Given the description of an element on the screen output the (x, y) to click on. 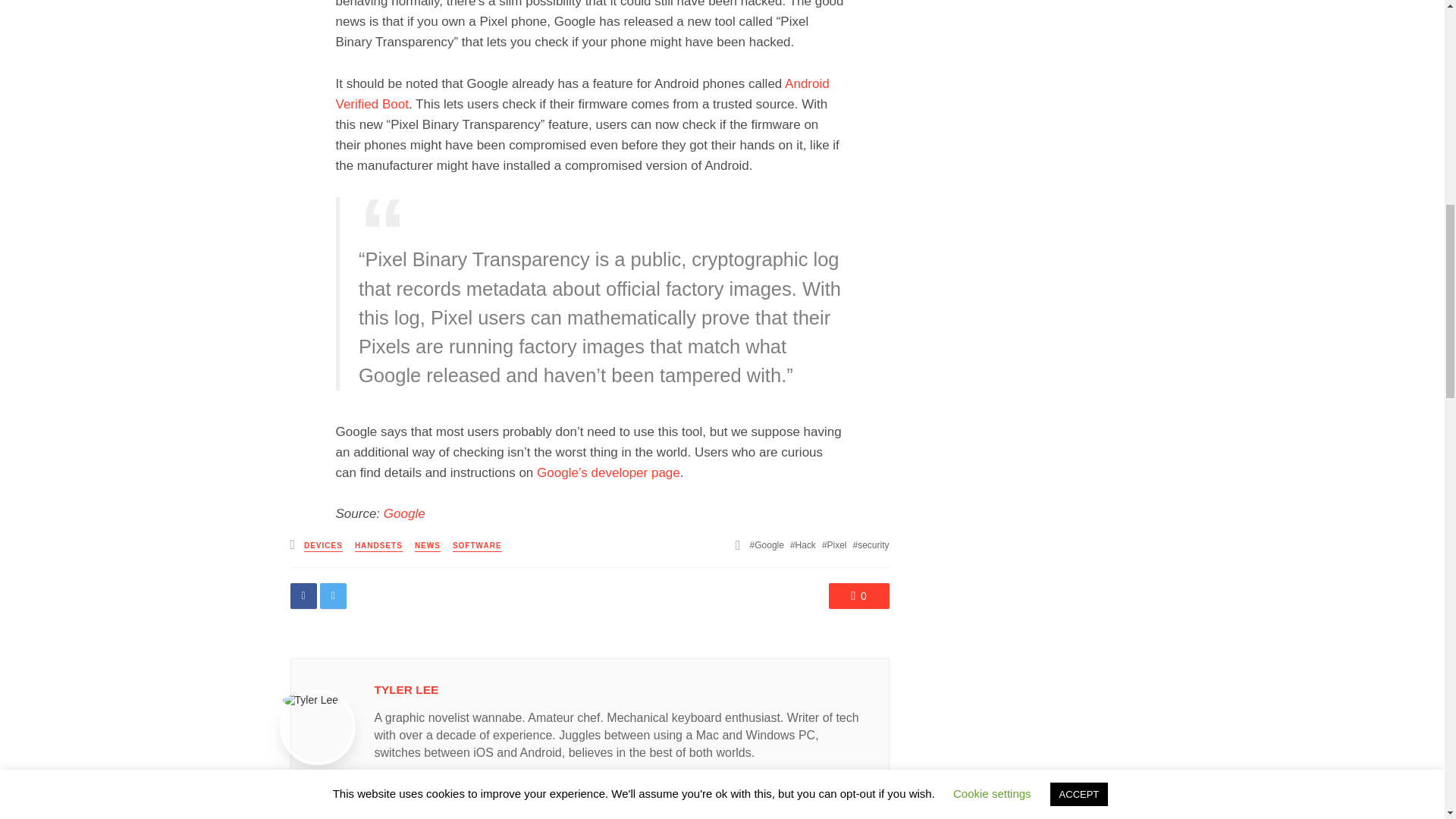
HANDSETS (379, 546)
Posts by Tyler Lee (406, 689)
Google (766, 544)
Android Verified Boot (581, 93)
DEVICES (323, 546)
Hack (802, 544)
SOFTWARE (477, 546)
Google (404, 513)
NEWS (427, 546)
